Given the description of an element on the screen output the (x, y) to click on. 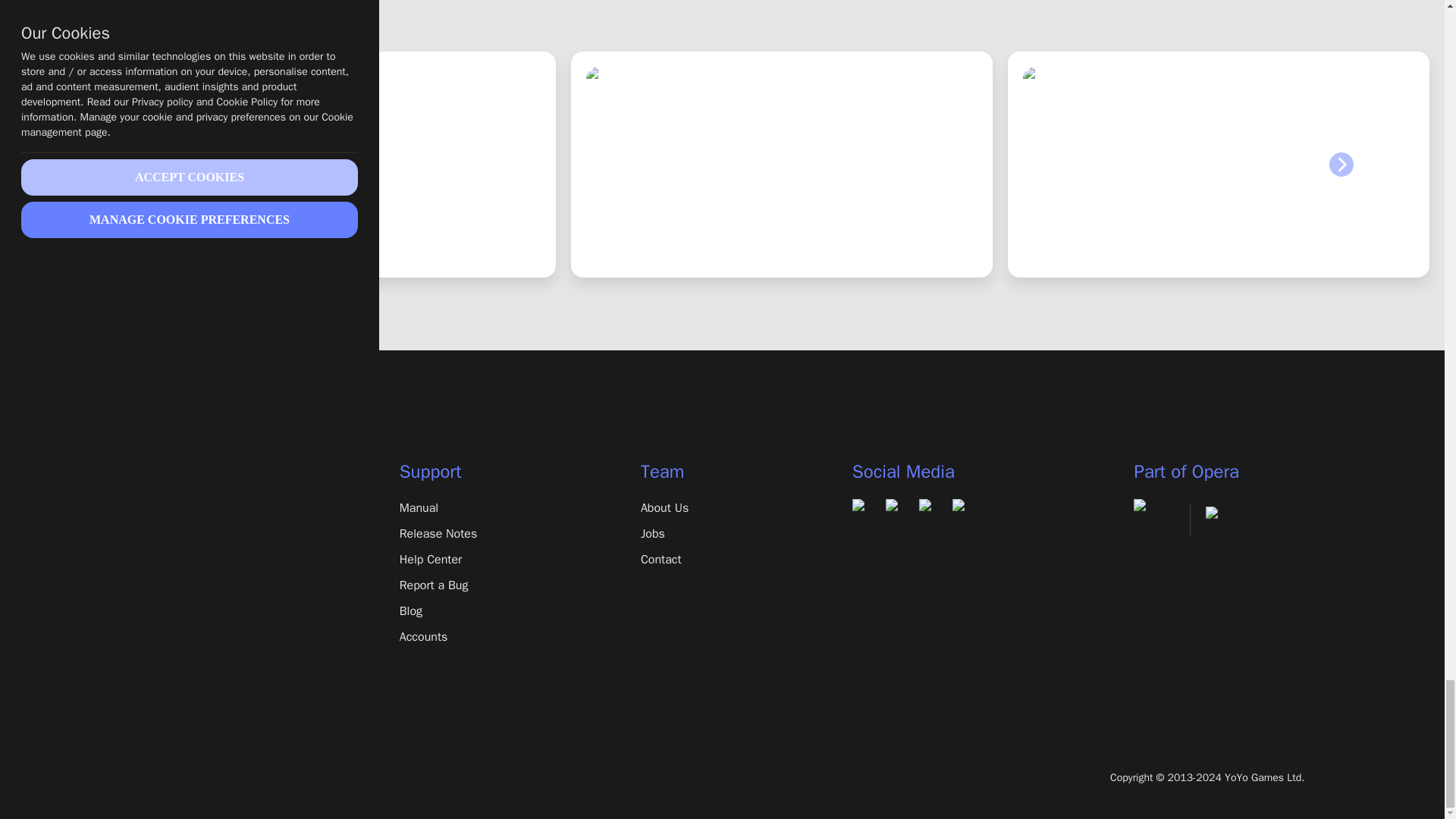
Pricing (187, 559)
Asset Bundles (187, 610)
Download (187, 507)
Marketplace (187, 585)
Features (187, 533)
